Given the description of an element on the screen output the (x, y) to click on. 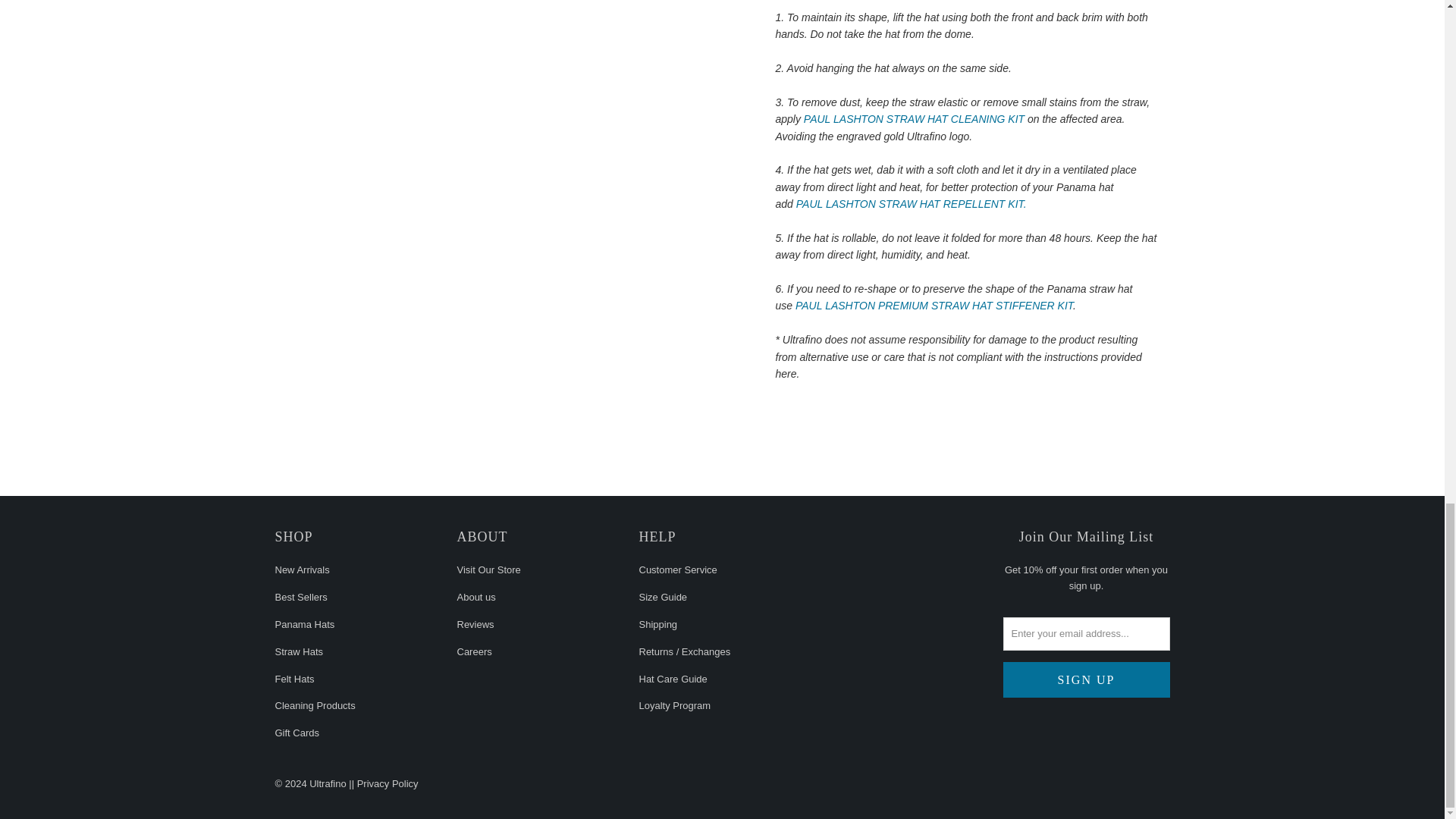
Panama Hat Pemium stiffener (933, 305)
Sign Up (1086, 679)
Panama straw hat cleaning kit. (914, 119)
Panama hat repellent (911, 203)
